Given the description of an element on the screen output the (x, y) to click on. 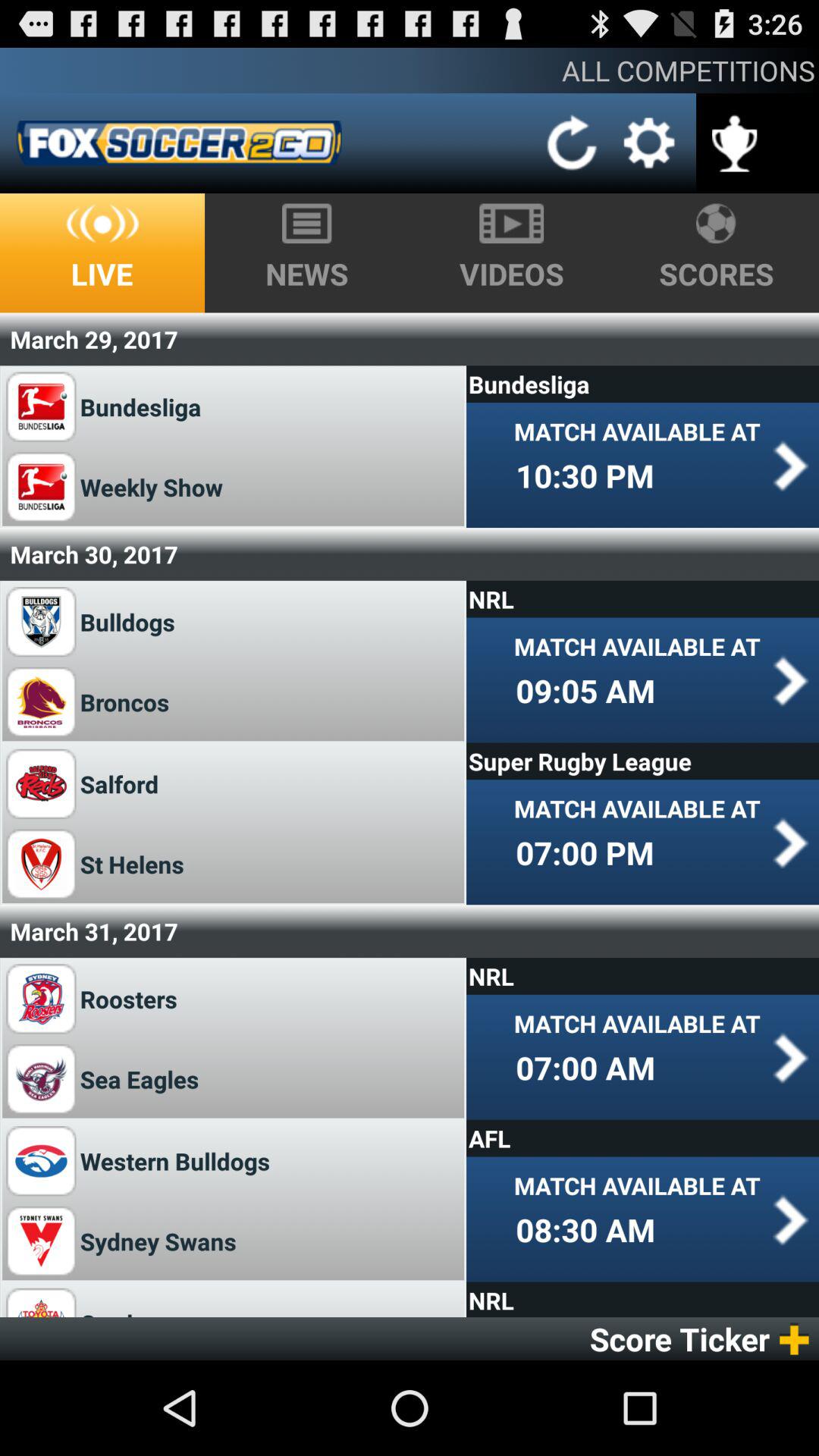
swipe to the sydney swans app (158, 1241)
